Given the description of an element on the screen output the (x, y) to click on. 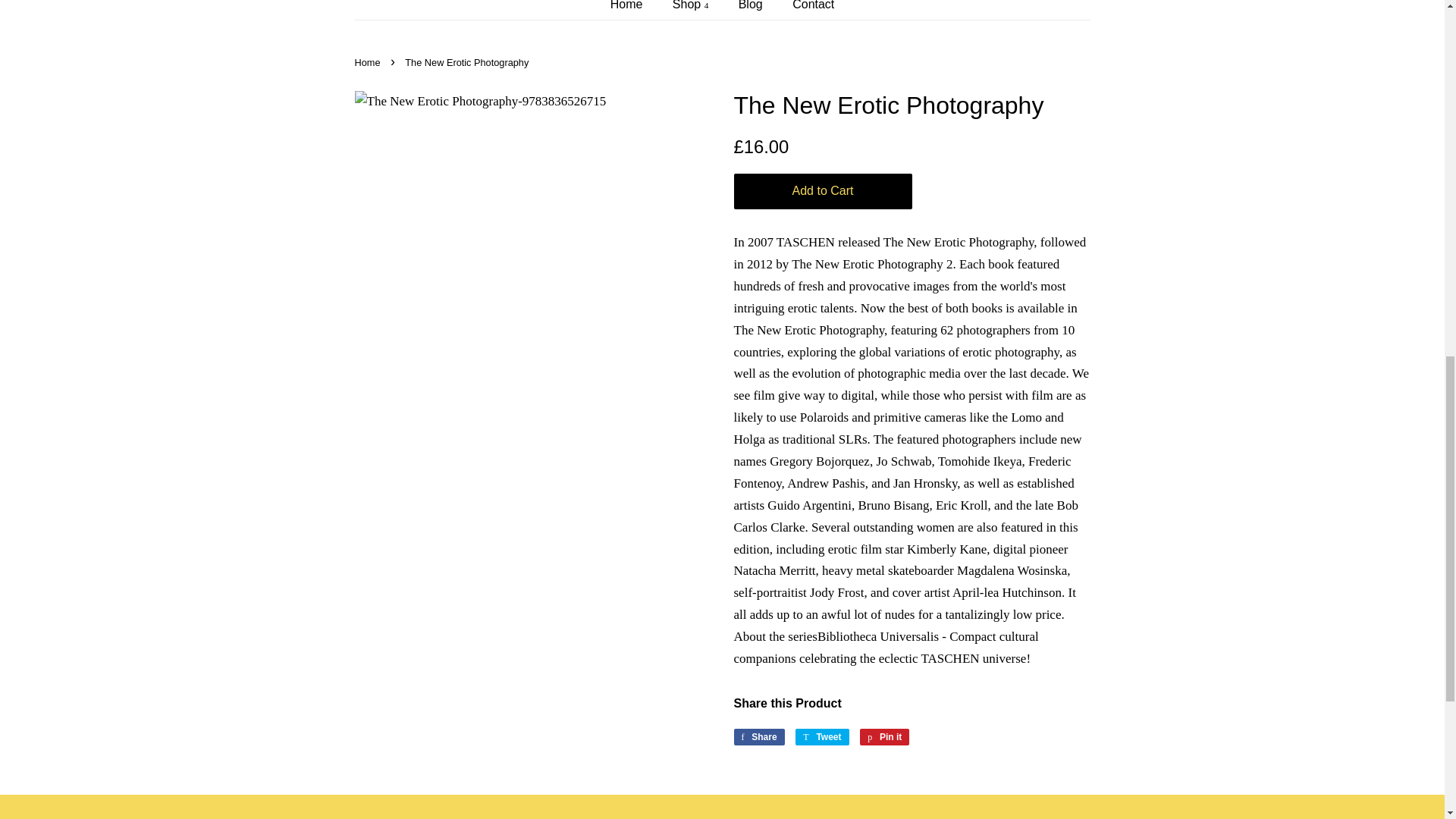
Tweet on Twitter (821, 736)
Share on Facebook (758, 736)
Pin on Pinterest (884, 736)
Back to the frontpage (369, 61)
